Given the description of an element on the screen output the (x, y) to click on. 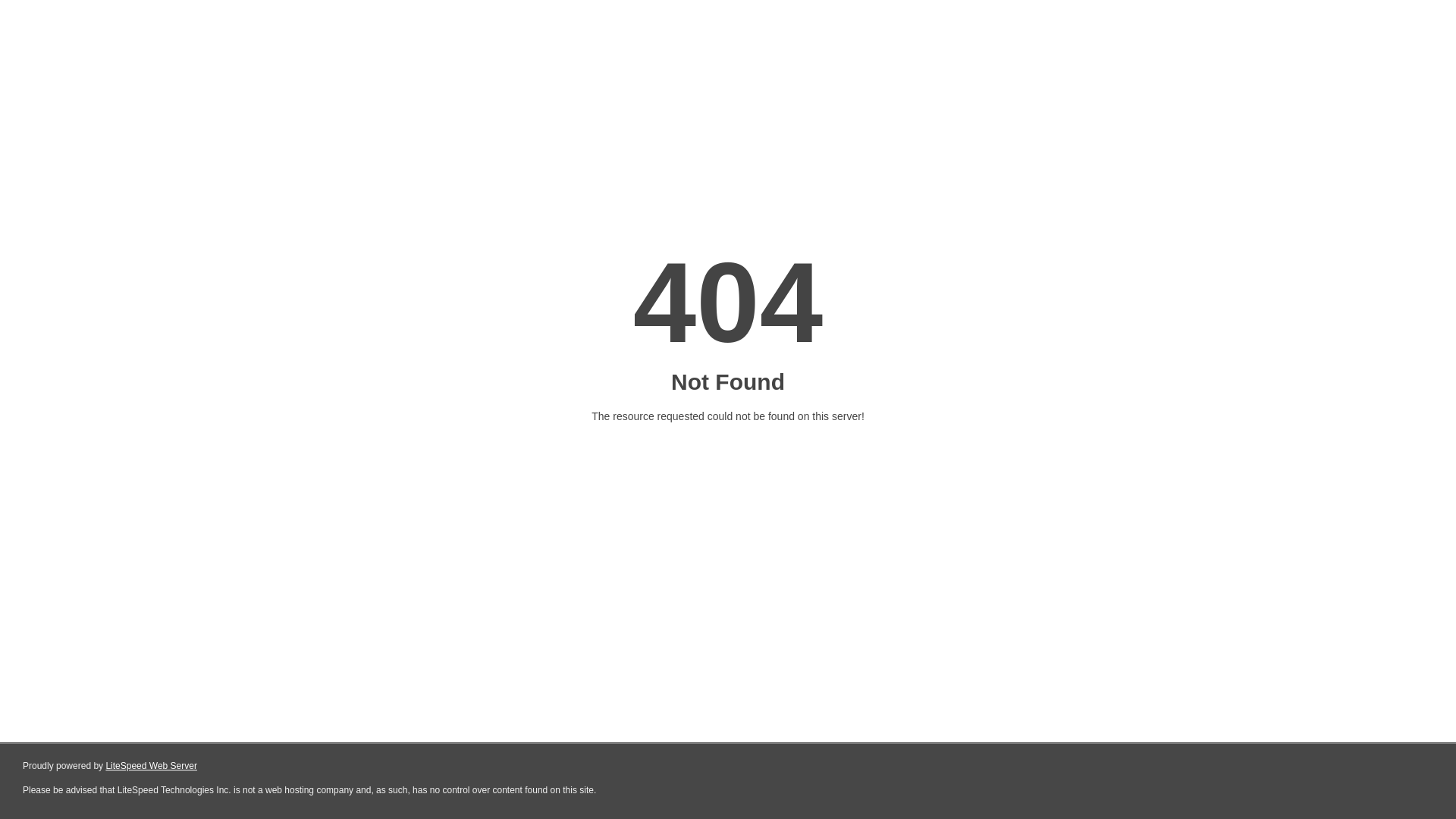
LiteSpeed Web Server Element type: text (151, 765)
